Given the description of an element on the screen output the (x, y) to click on. 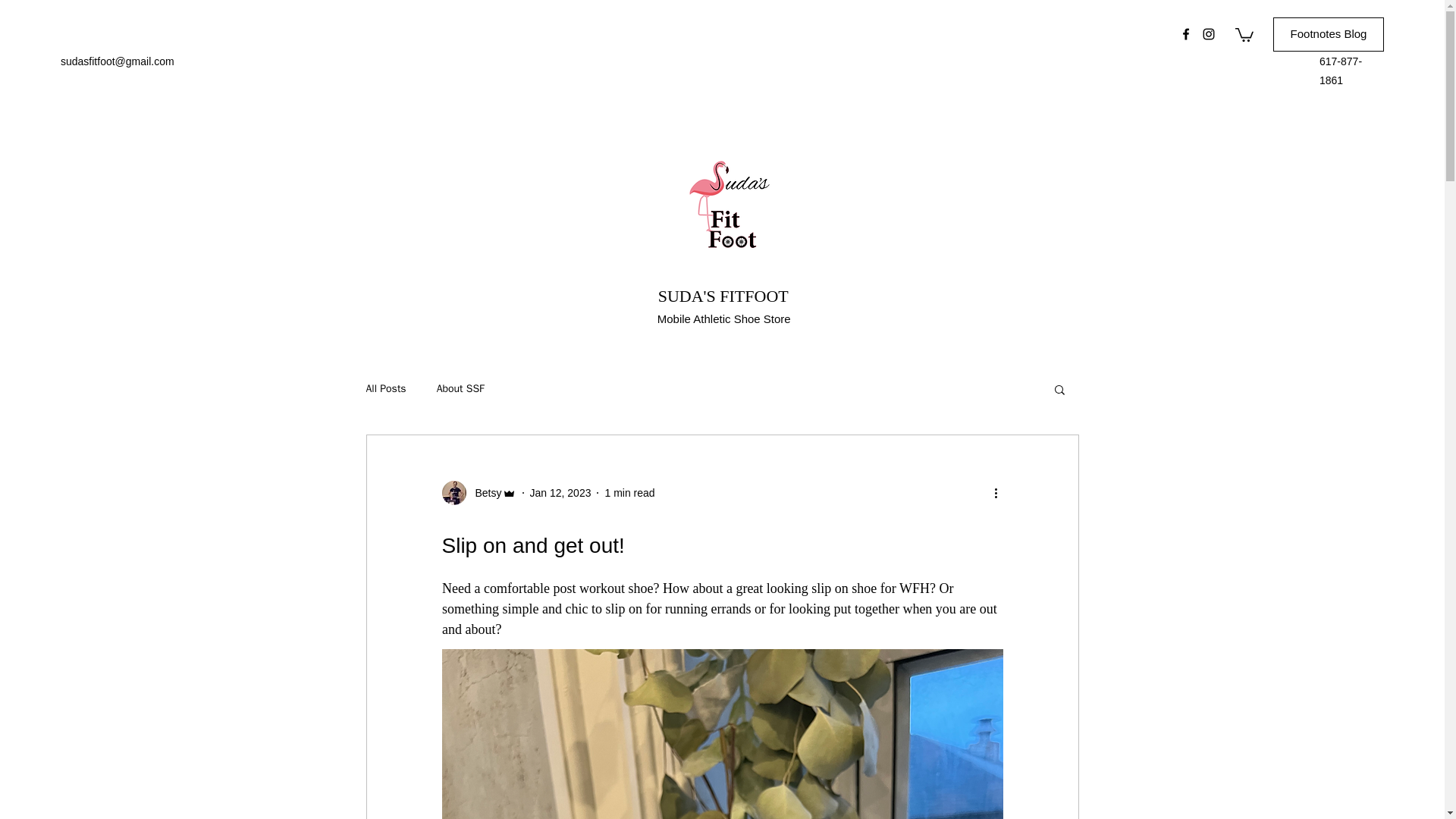
1 min read (628, 492)
All Posts (385, 388)
SUDA'S FITFOOT (723, 295)
Betsy (478, 492)
Footnotes Blog (1328, 34)
Betsy (482, 493)
About SSF (460, 388)
Jan 12, 2023 (560, 492)
